Given the description of an element on the screen output the (x, y) to click on. 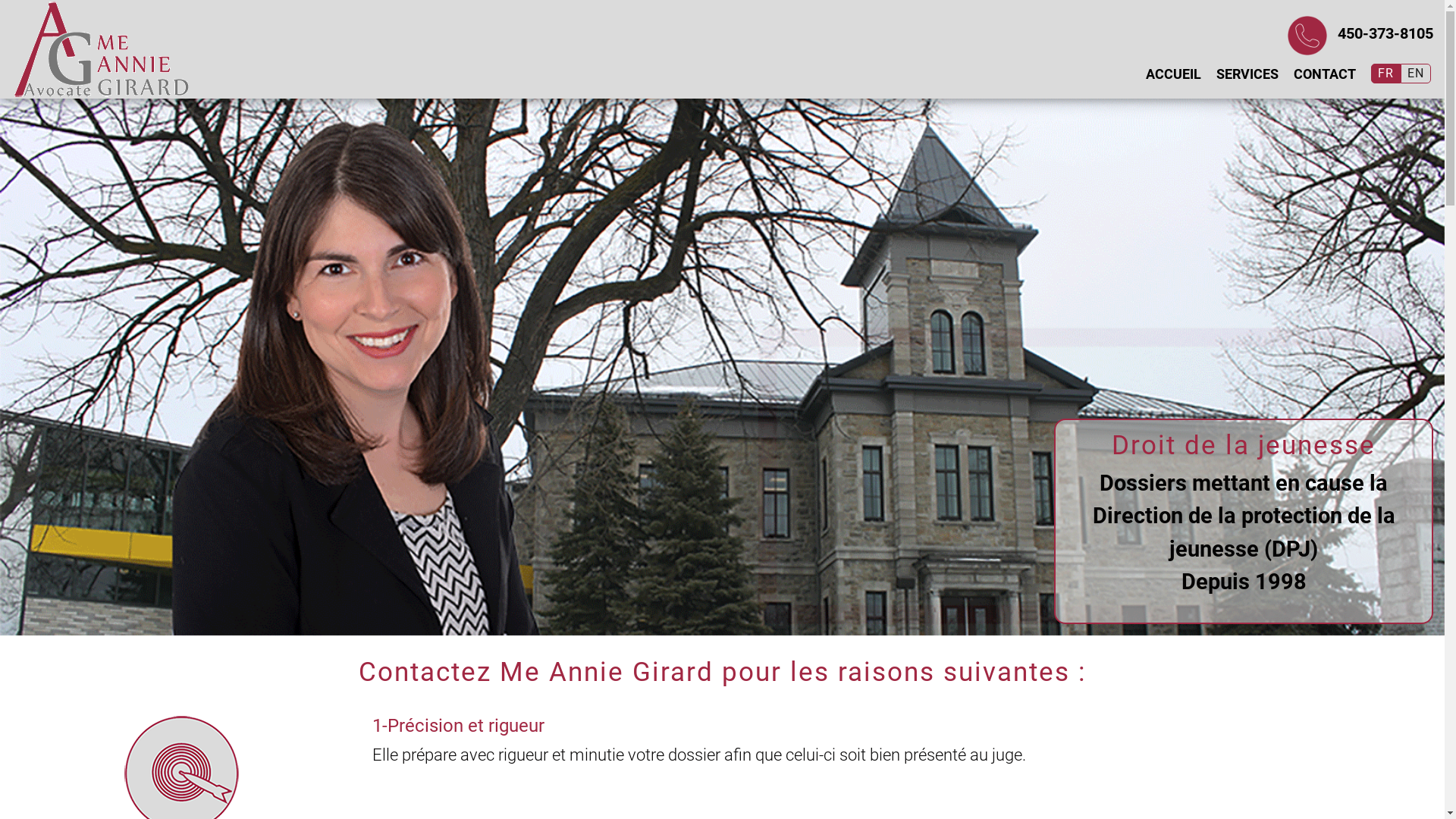
EN Element type: text (1415, 73)
ACCUEIL Element type: text (1173, 73)
450-373-8105 Element type: text (1385, 33)
CONTACT Element type: text (1324, 73)
FR Element type: text (1385, 73)
SERVICES Element type: text (1247, 73)
